Given the description of an element on the screen output the (x, y) to click on. 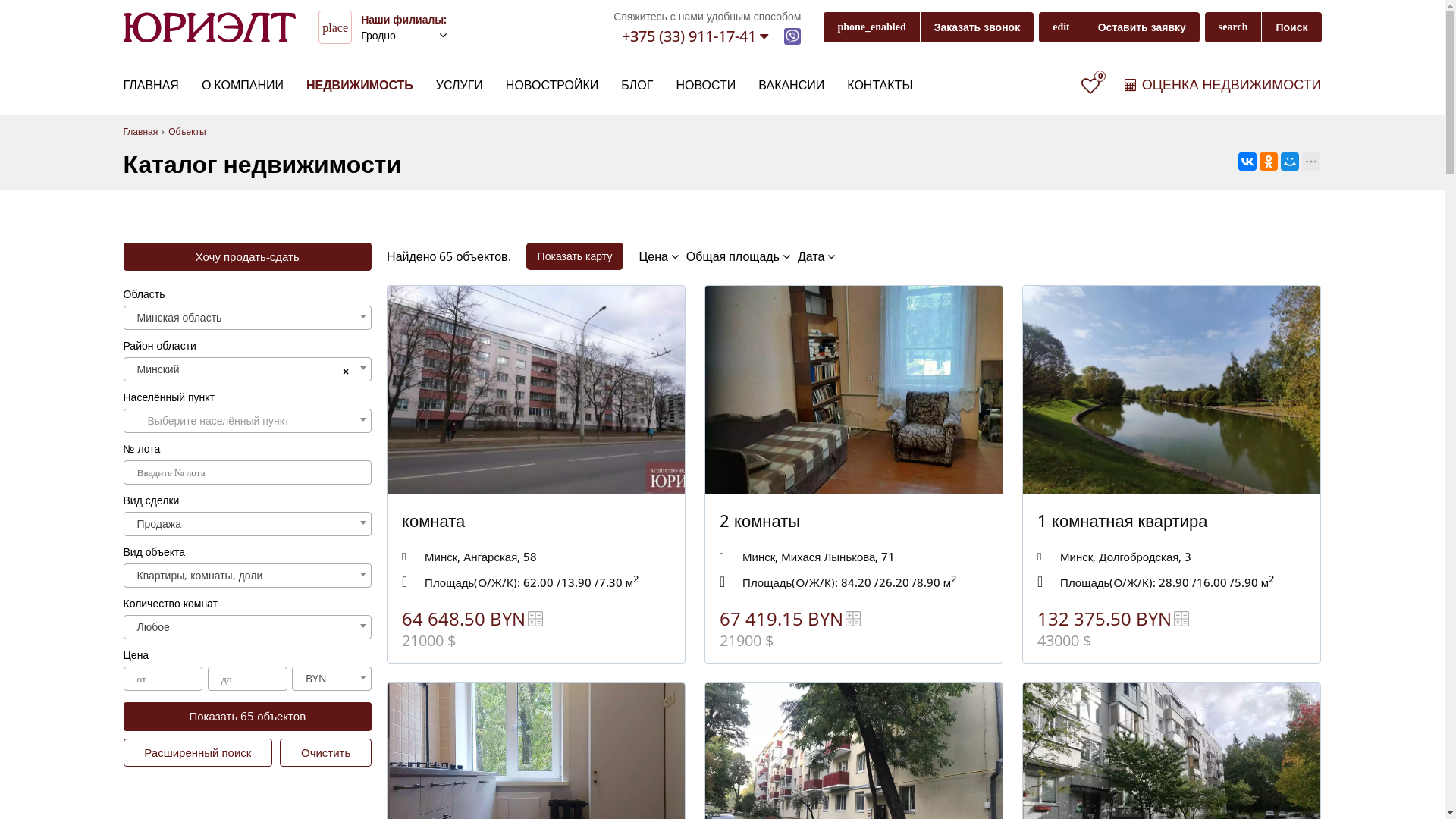
+375 (33) 911-17-41 Element type: text (694, 36)
0 Element type: text (1090, 85)
